Given the description of an element on the screen output the (x, y) to click on. 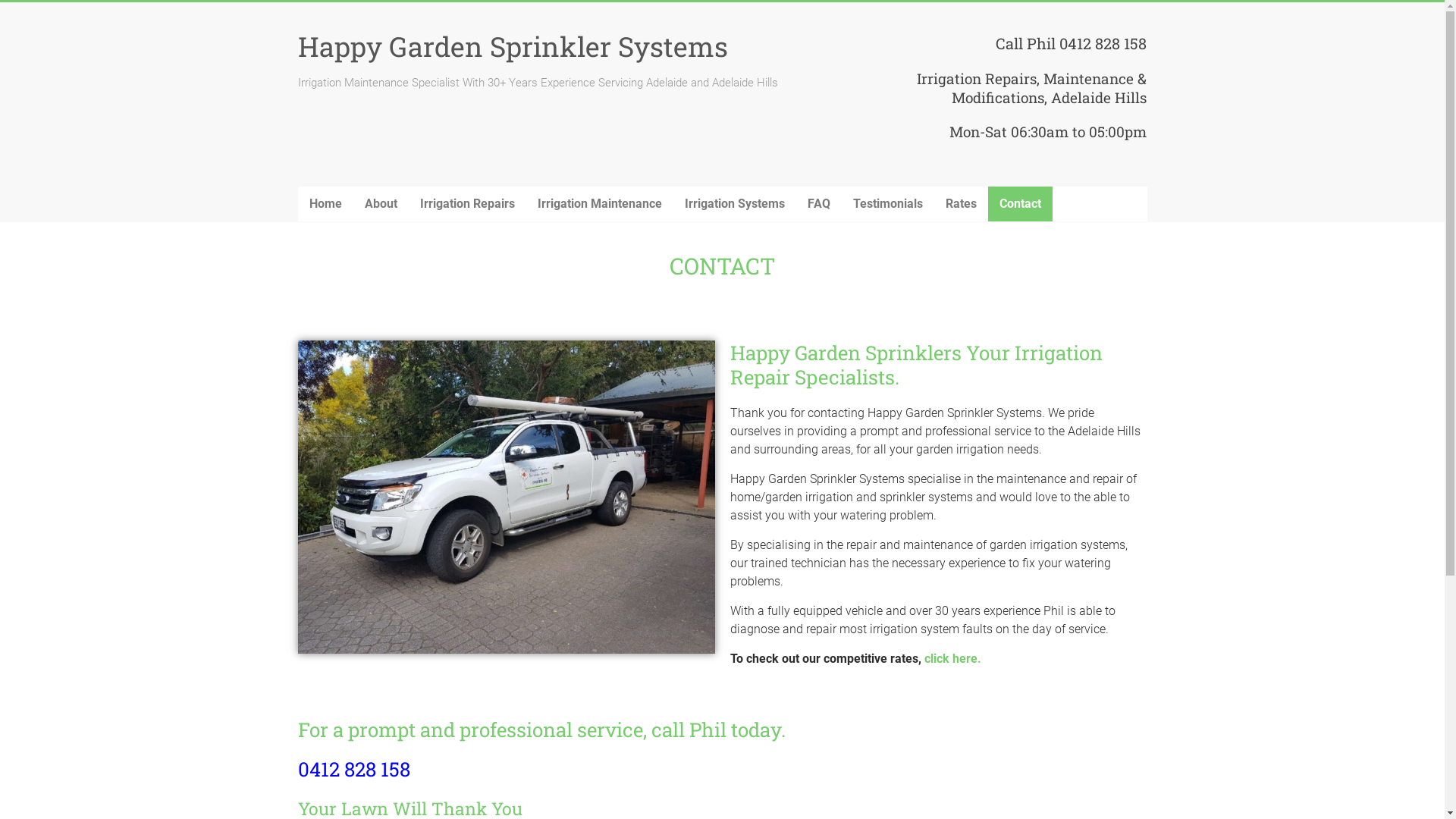
Rates Element type: text (961, 203)
Happy Garden Sprinkler Systems Element type: text (512, 46)
Irrigation Systems Element type: text (734, 203)
Irrigation Repairs Element type: text (466, 203)
click here. Element type: text (951, 658)
About Element type: text (380, 203)
Irrigation Maintenance Element type: text (599, 203)
Call Phil 0412 828 158 Element type: text (1070, 43)
Home Element type: text (324, 203)
Testimonials Element type: text (887, 203)
0412 828 158 Element type: text (353, 768)
Contact Element type: text (1019, 203)
FAQ Element type: text (818, 203)
